Given the description of an element on the screen output the (x, y) to click on. 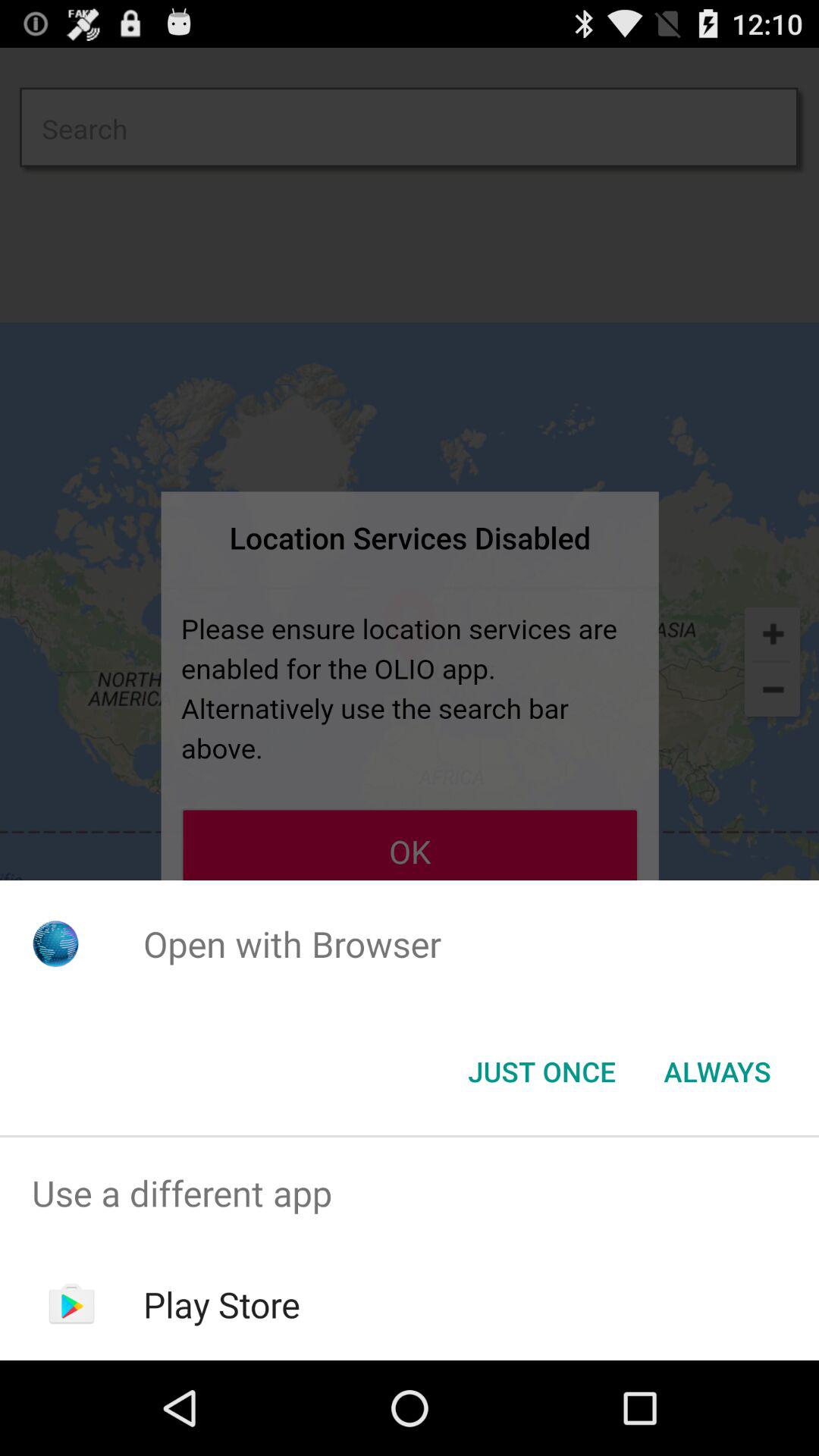
click icon to the left of always (541, 1071)
